Given the description of an element on the screen output the (x, y) to click on. 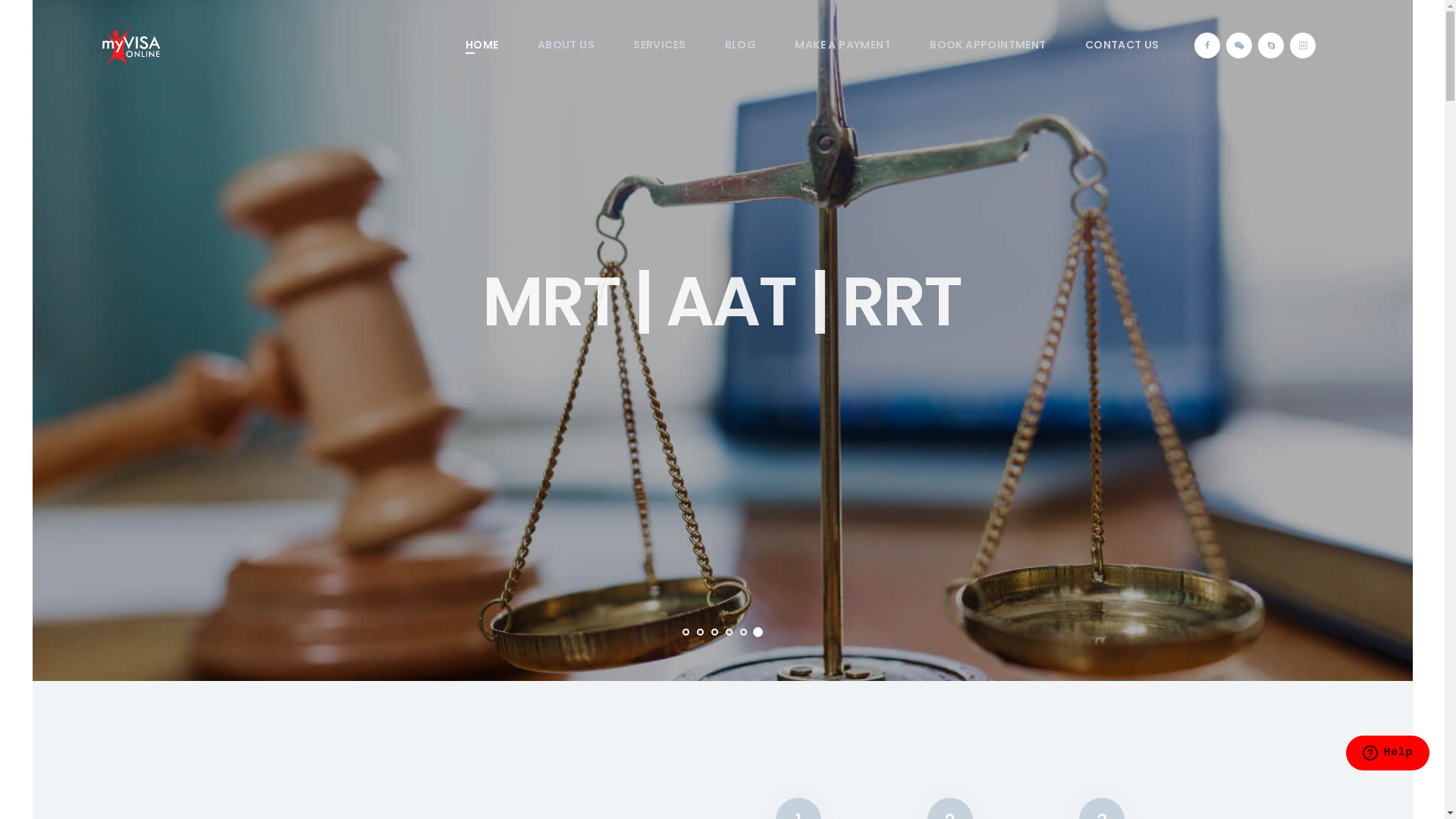
CONTACT US Element type: text (1121, 45)
Opens a widget where you can find more information Element type: hover (1387, 773)
ABOUT US Element type: text (565, 45)
MAKE A PAYMENT Element type: text (842, 45)
BLOG Element type: text (740, 45)
HOME Element type: text (481, 45)
SERVICES Element type: text (659, 45)
BOOK APPOINTMENT Element type: text (988, 45)
